Given the description of an element on the screen output the (x, y) to click on. 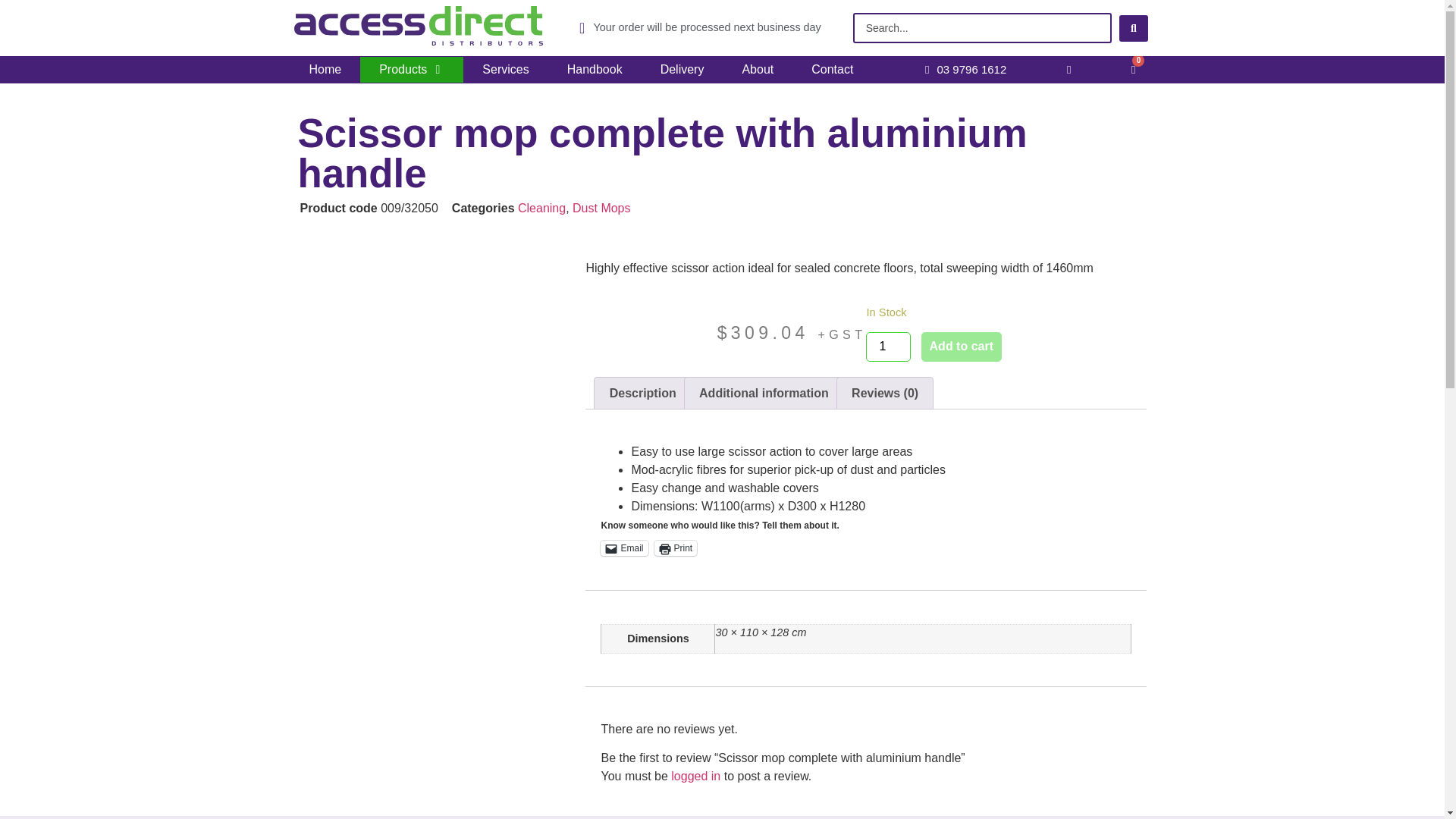
Click to email a link to a friend (623, 548)
Click to print (675, 548)
Products (402, 69)
Home (325, 69)
1 (888, 346)
